Given the description of an element on the screen output the (x, y) to click on. 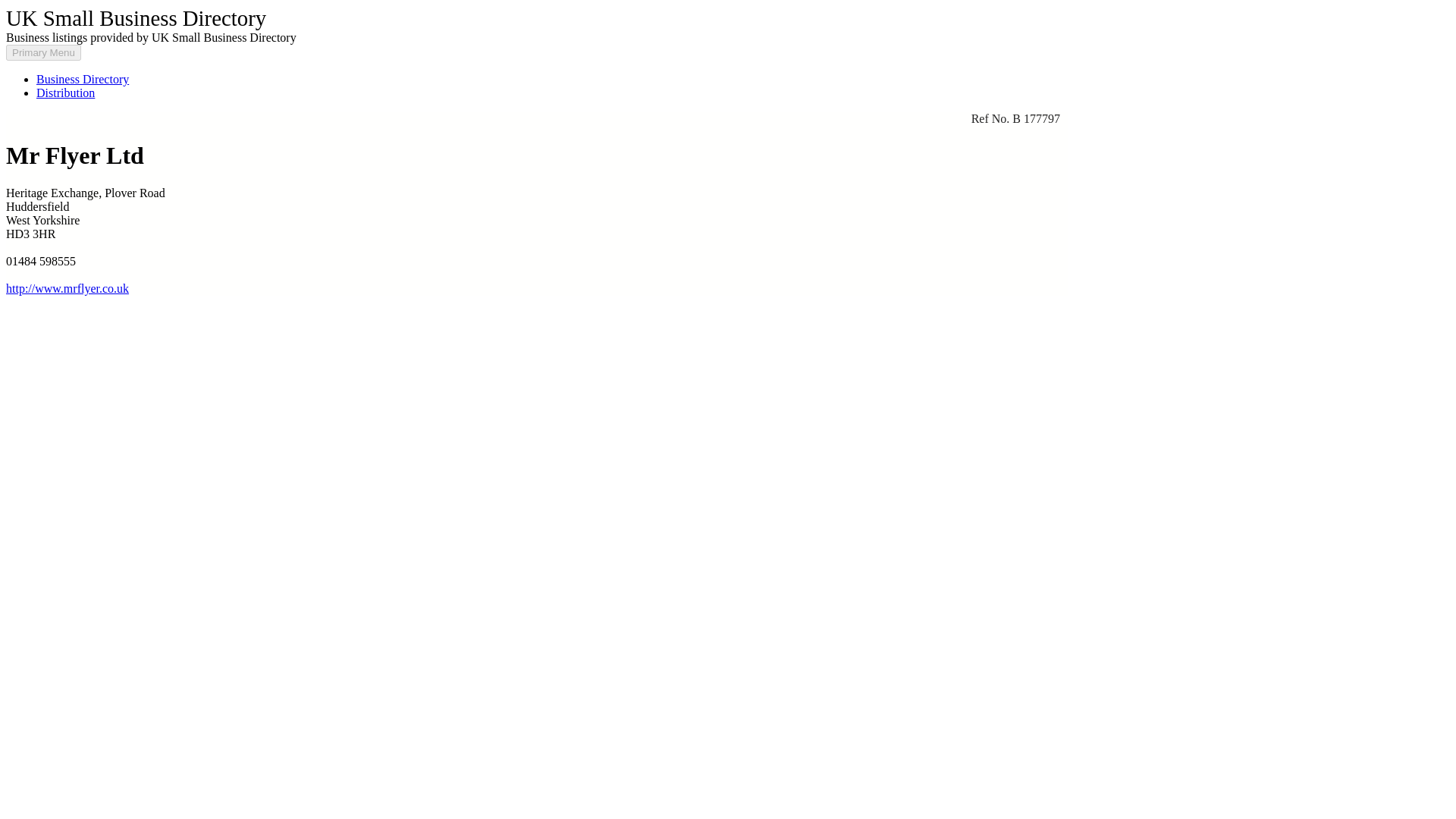
Distribution (65, 92)
Business Directory (82, 78)
Primary Menu (43, 52)
